Given the description of an element on the screen output the (x, y) to click on. 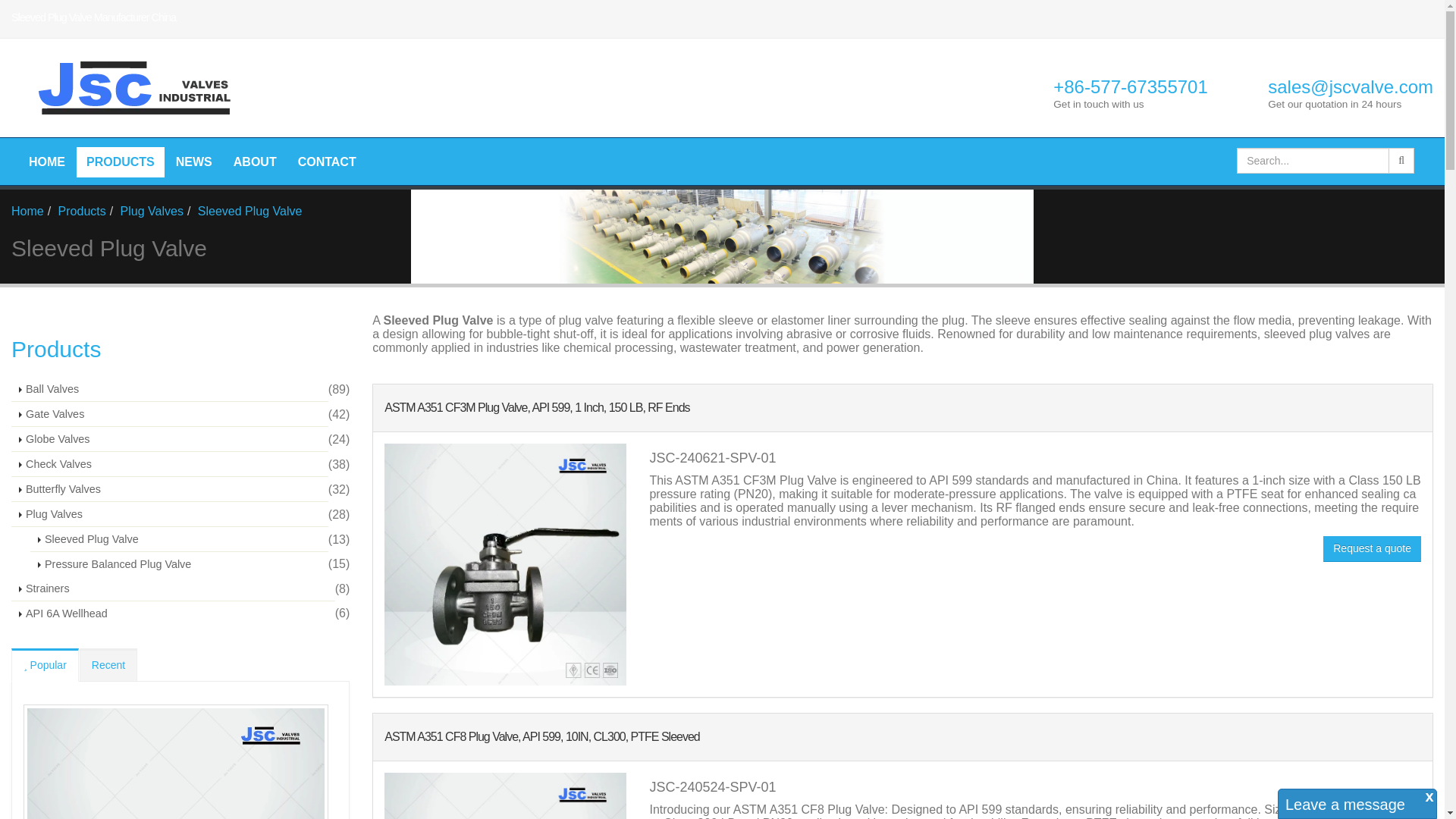
NEWS (193, 162)
China Valve Manufacturer (130, 87)
HOME (46, 162)
China Valve Manufacturer (124, 87)
Products (120, 162)
PRODUCTS (120, 162)
Home (46, 162)
ABOUT (255, 162)
